Given the description of an element on the screen output the (x, y) to click on. 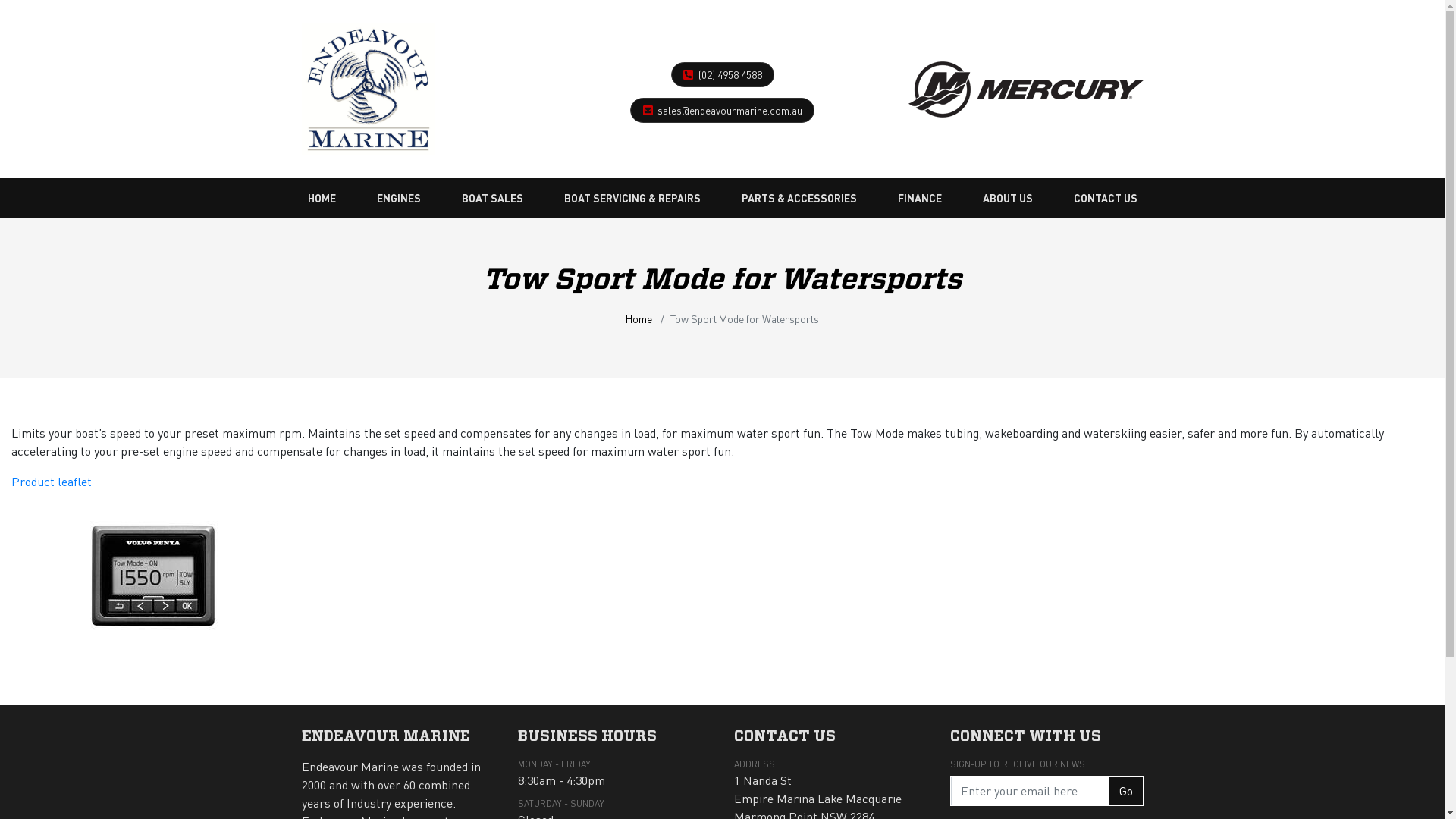
FINANCE Element type: text (919, 198)
HOME Element type: text (321, 198)
BOAT SALES Element type: text (491, 198)
Go Element type: text (1125, 790)
PARTS & ACCESSORIES Element type: text (798, 198)
Product leaflet Element type: text (51, 481)
Endeavour Marine - Mercury sales and service Lake Macquarie Element type: hover (367, 85)
BOAT SERVICING & REPAIRS Element type: text (632, 198)
ABOUT US Element type: text (1007, 198)
sales@endeavourmarine.com.au Element type: text (729, 110)
CONTACT US Element type: text (1105, 198)
Home Element type: text (638, 318)
(02) 4958 4588 Element type: text (729, 74)
ENGINES Element type: text (398, 198)
